Given the description of an element on the screen output the (x, y) to click on. 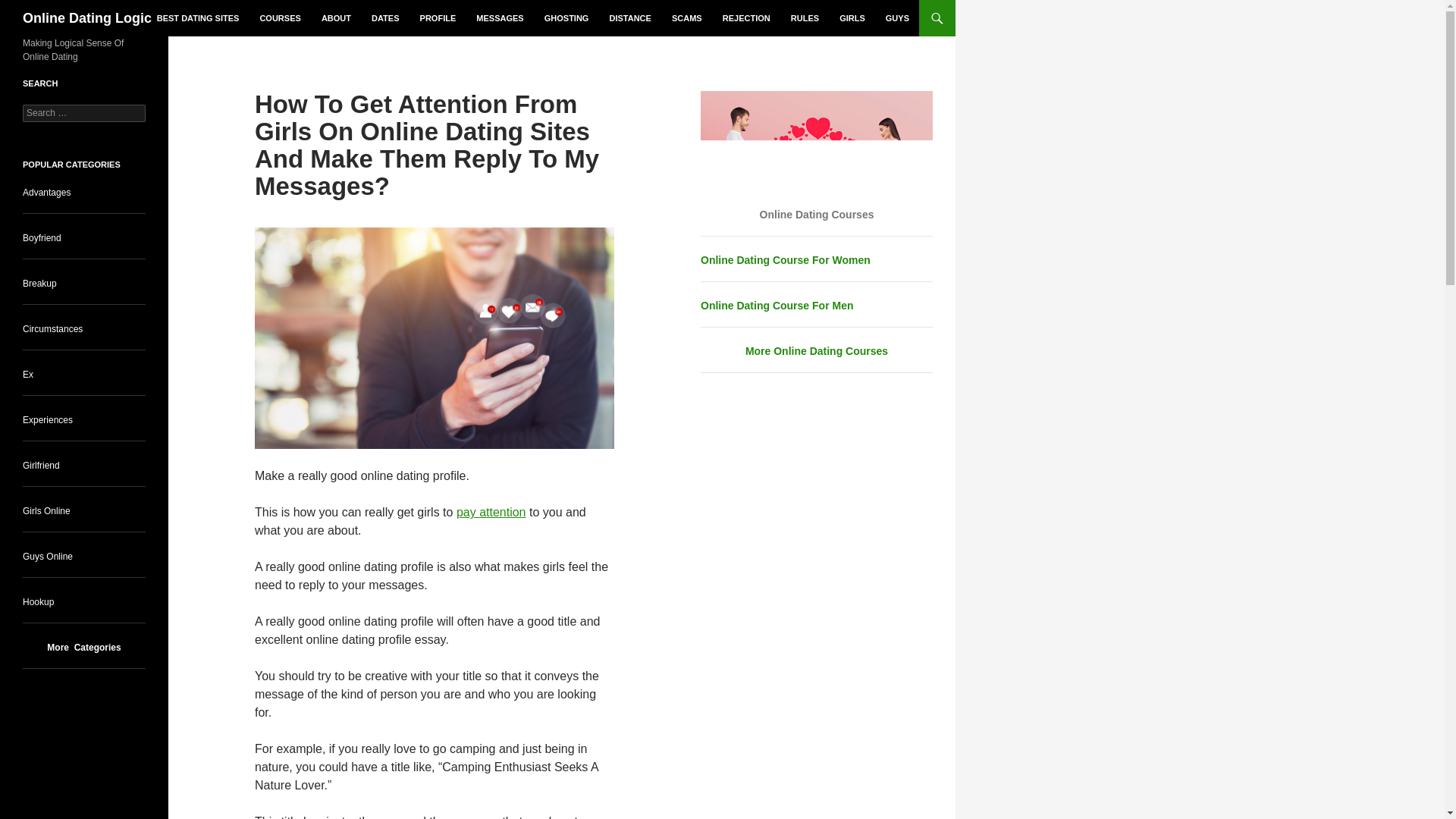
ABOUT (336, 18)
REJECTION (745, 18)
Advantages (46, 192)
Search (30, 8)
PROFILE (437, 18)
DISTANCE (629, 18)
GHOSTING (566, 18)
SCAMS (686, 18)
Ex (28, 374)
Online Dating Course For Men (776, 305)
